Given the description of an element on the screen output the (x, y) to click on. 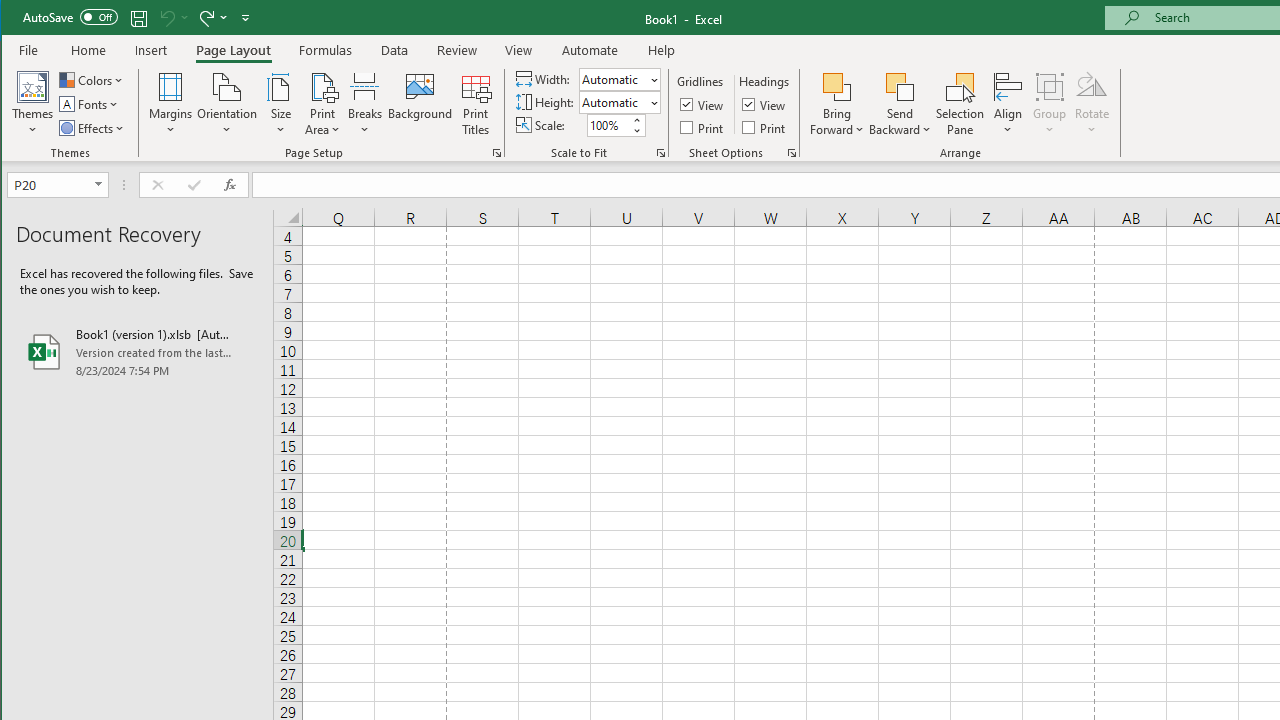
Sheet Options (791, 152)
Bring Forward (836, 86)
